Given the description of an element on the screen output the (x, y) to click on. 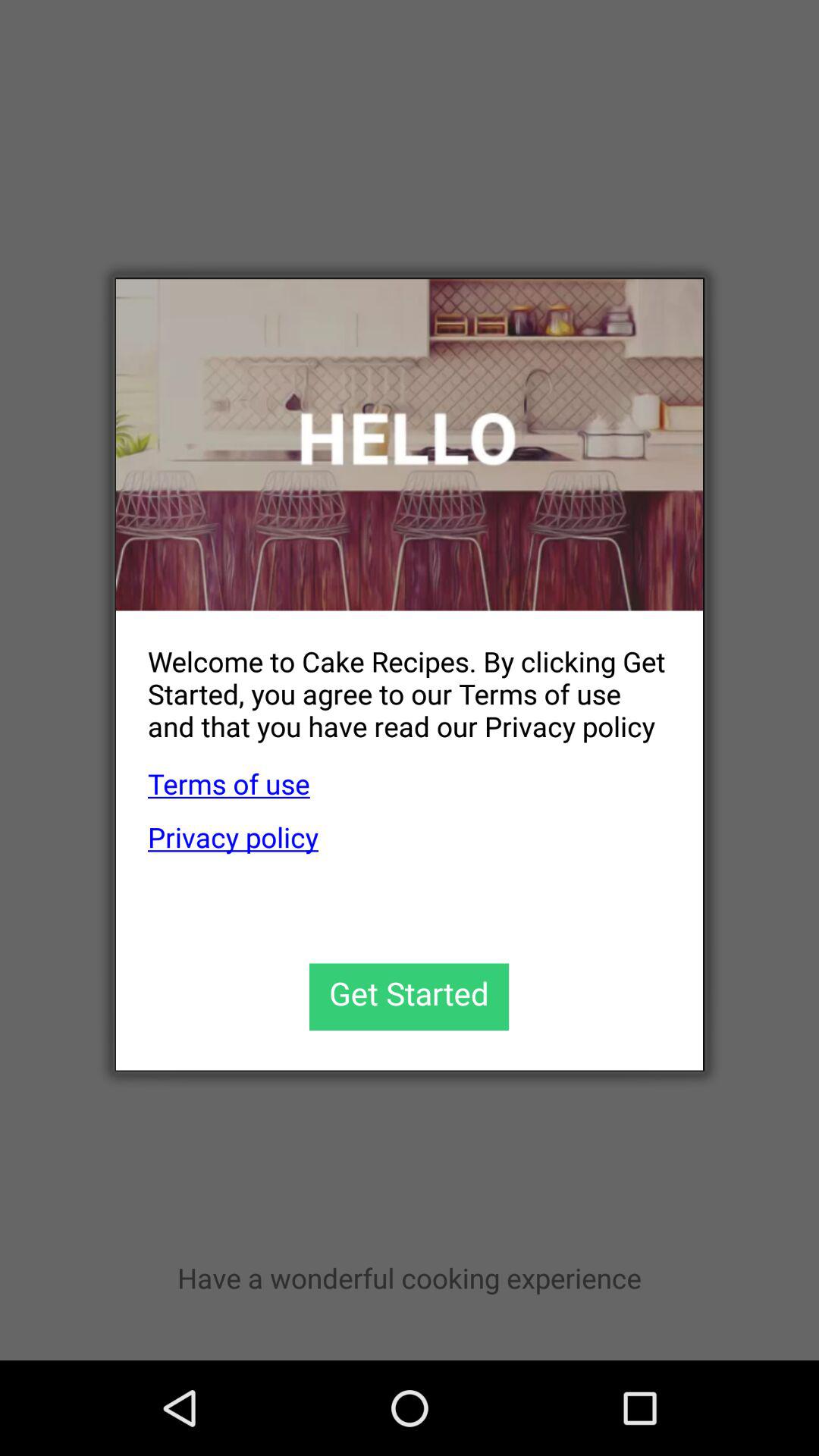
choose icon at the top (409, 444)
